Given the description of an element on the screen output the (x, y) to click on. 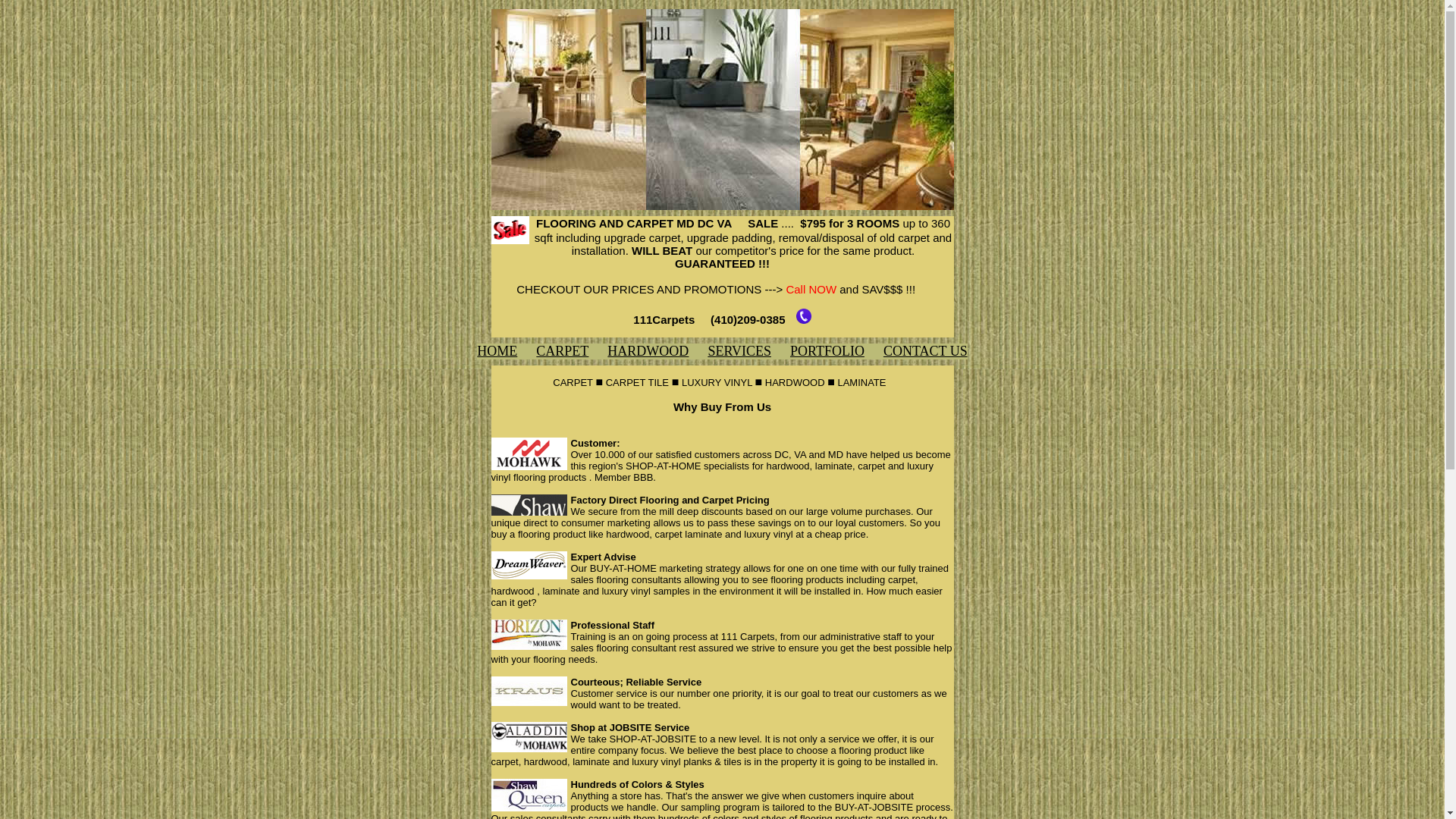
SERVICES Element type: text (739, 350)
CONTACT US Element type: text (925, 350)
PORTFOLIO Element type: text (827, 350)
HARDWOOD Element type: text (647, 350)
CARPET Element type: text (562, 350)
HOME Element type: text (496, 350)
